Given the description of an element on the screen output the (x, y) to click on. 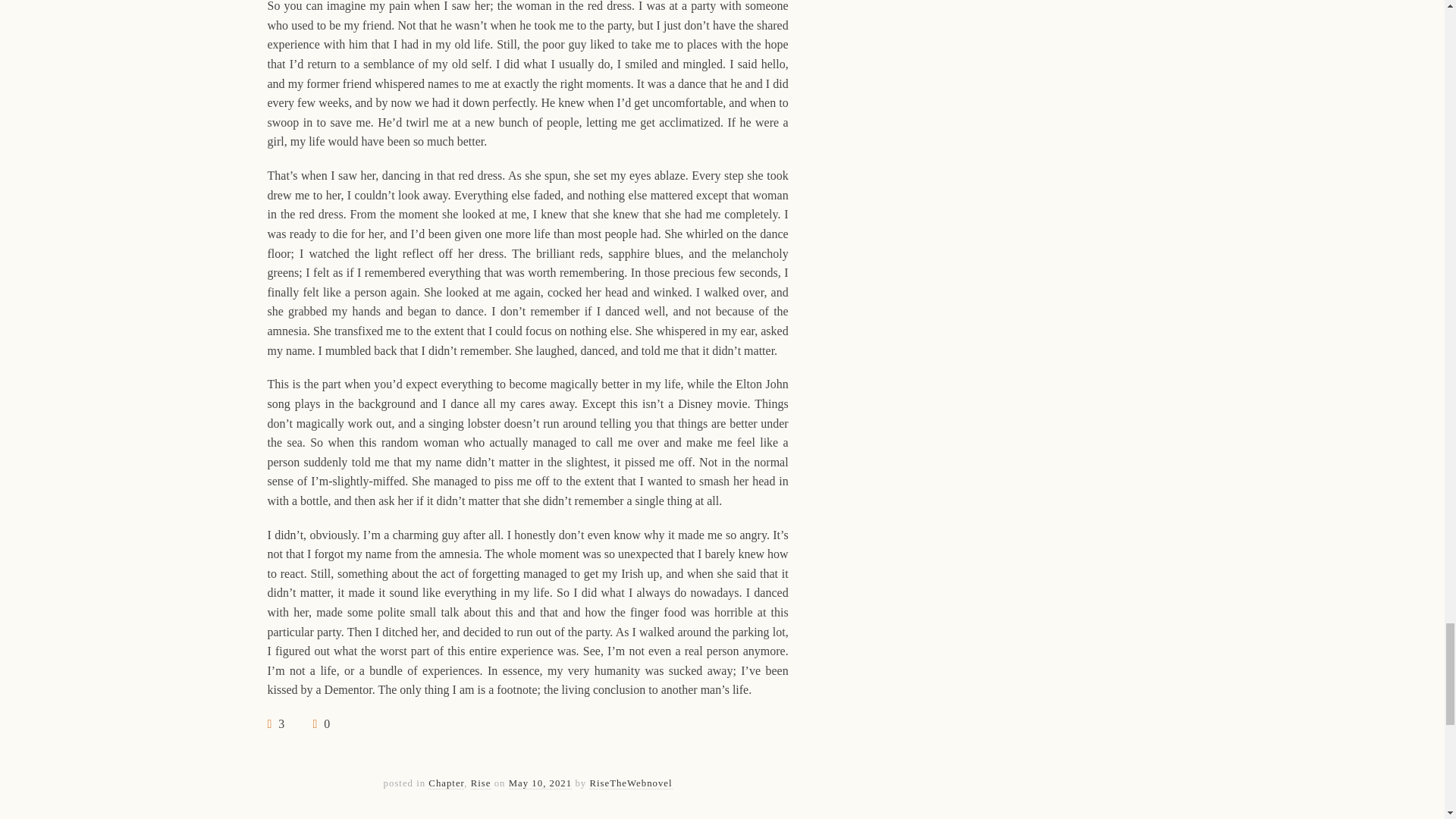
Chapter (446, 783)
Rise (481, 783)
2:10 am (540, 783)
May 10, 2021 (540, 783)
View all posts by RiseTheWebnovel (630, 783)
RiseTheWebnovel (630, 783)
